Given the description of an element on the screen output the (x, y) to click on. 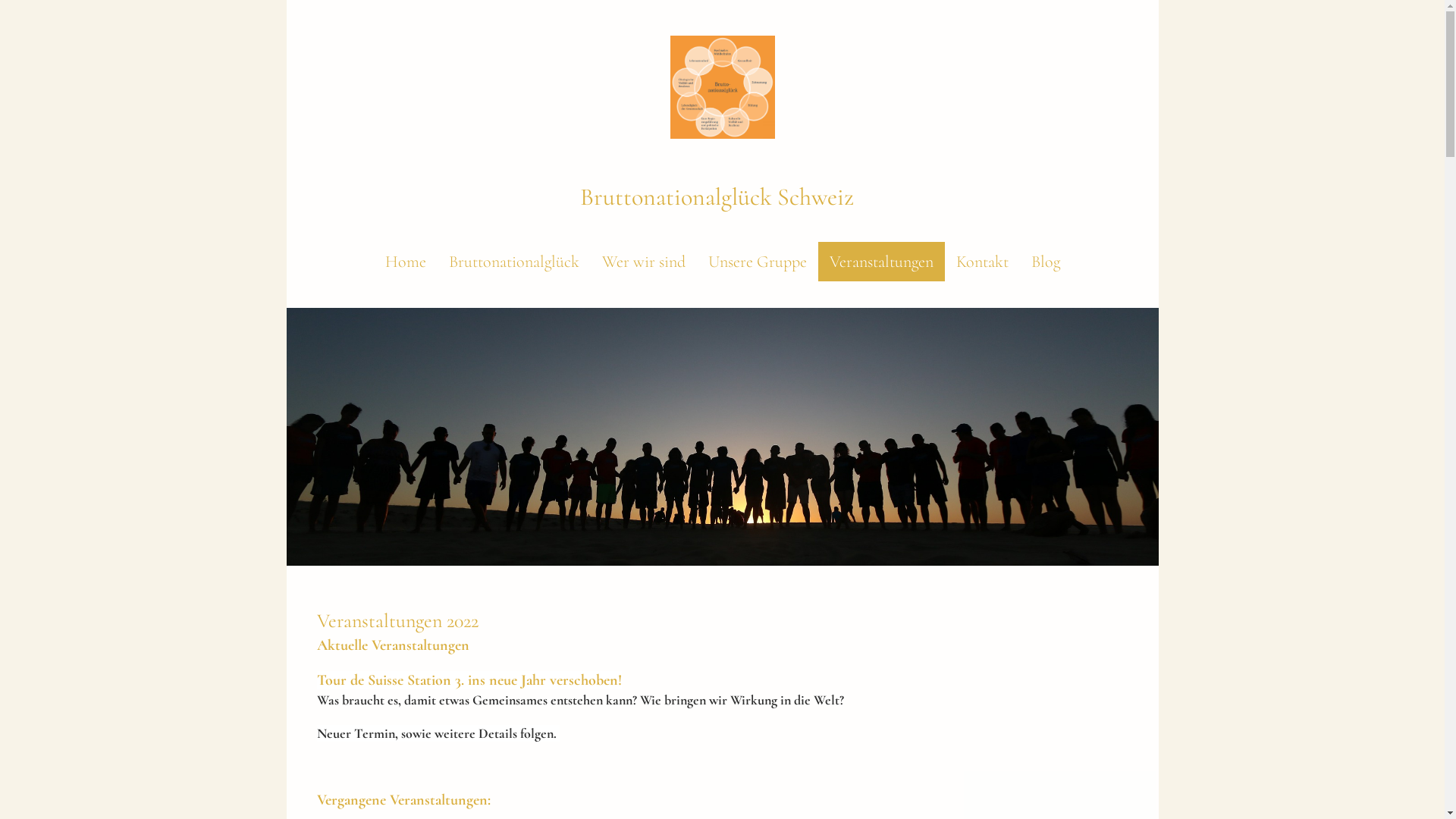
Blog Element type: text (1044, 261)
Veranstaltungen Element type: text (880, 261)
Home Element type: text (404, 261)
Unsere Gruppe Element type: text (756, 261)
Wer wir sind Element type: text (642, 261)
Kontakt Element type: text (981, 261)
